Given the description of an element on the screen output the (x, y) to click on. 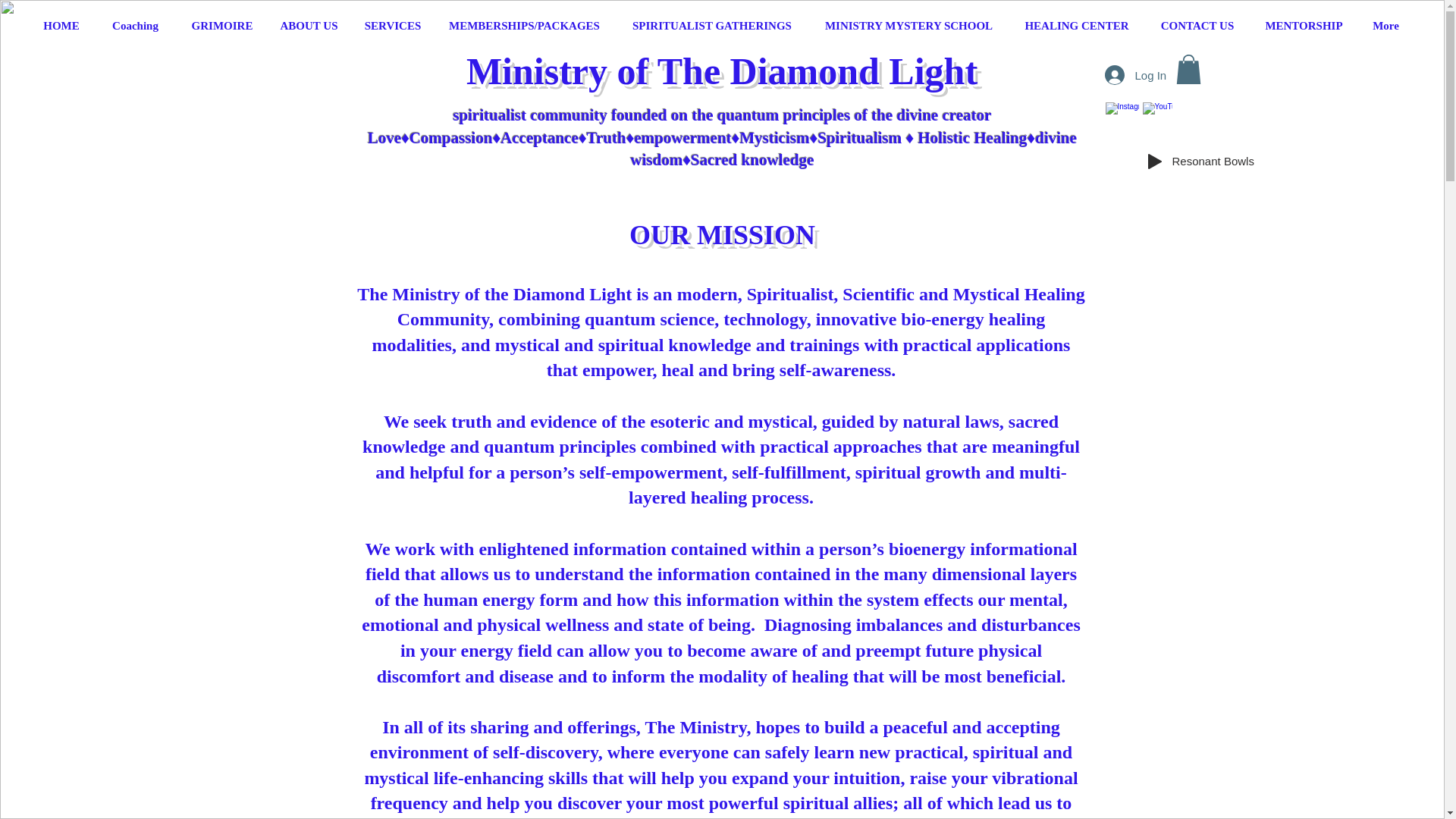
HEALING CENTER (1076, 25)
Log In (1122, 74)
MENTORSHIP (1302, 25)
CONTACT US (1197, 25)
GRIMOIRE (222, 25)
MINISTRY MYSTERY SCHOOL (908, 25)
SERVICES (392, 25)
SPIRITUALIST GATHERINGS (712, 25)
Coaching (136, 25)
HOME (60, 25)
